Given the description of an element on the screen output the (x, y) to click on. 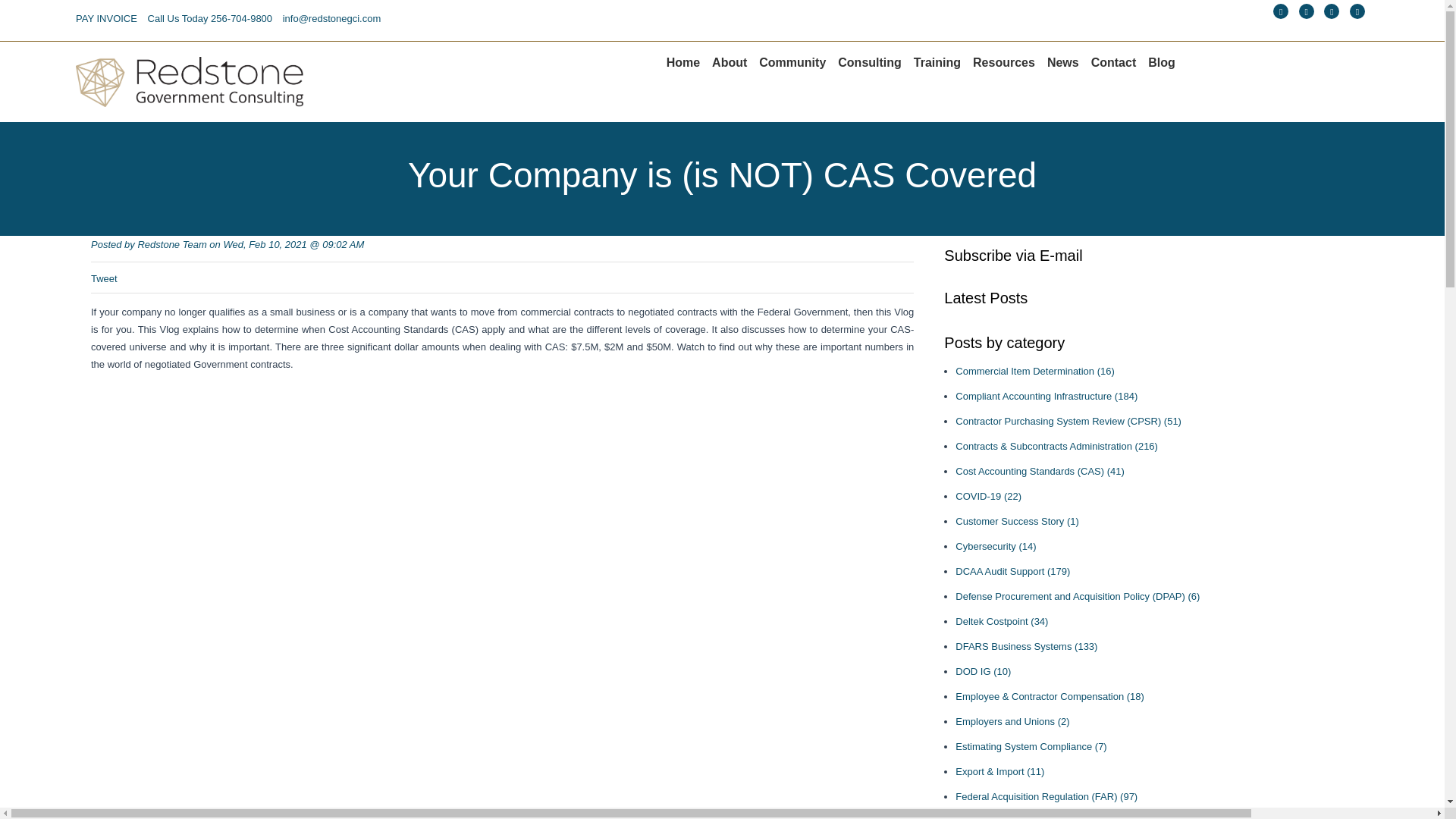
Consulting (869, 61)
About (729, 61)
PAY INVOICE (105, 18)
Home (683, 61)
Call Us Today 256-704-9800 (210, 18)
Community (791, 61)
